Given the description of an element on the screen output the (x, y) to click on. 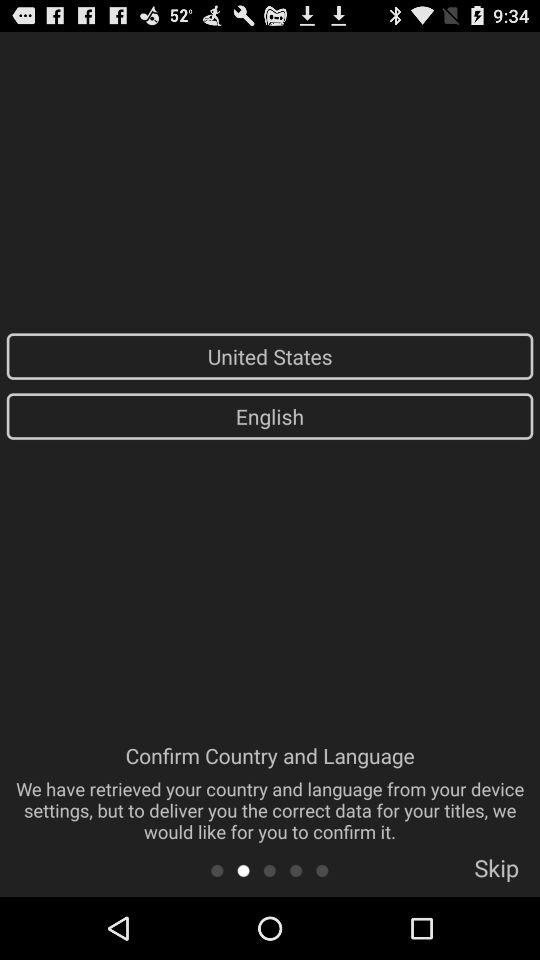
choose the app below the confirm country and item (321, 870)
